Given the description of an element on the screen output the (x, y) to click on. 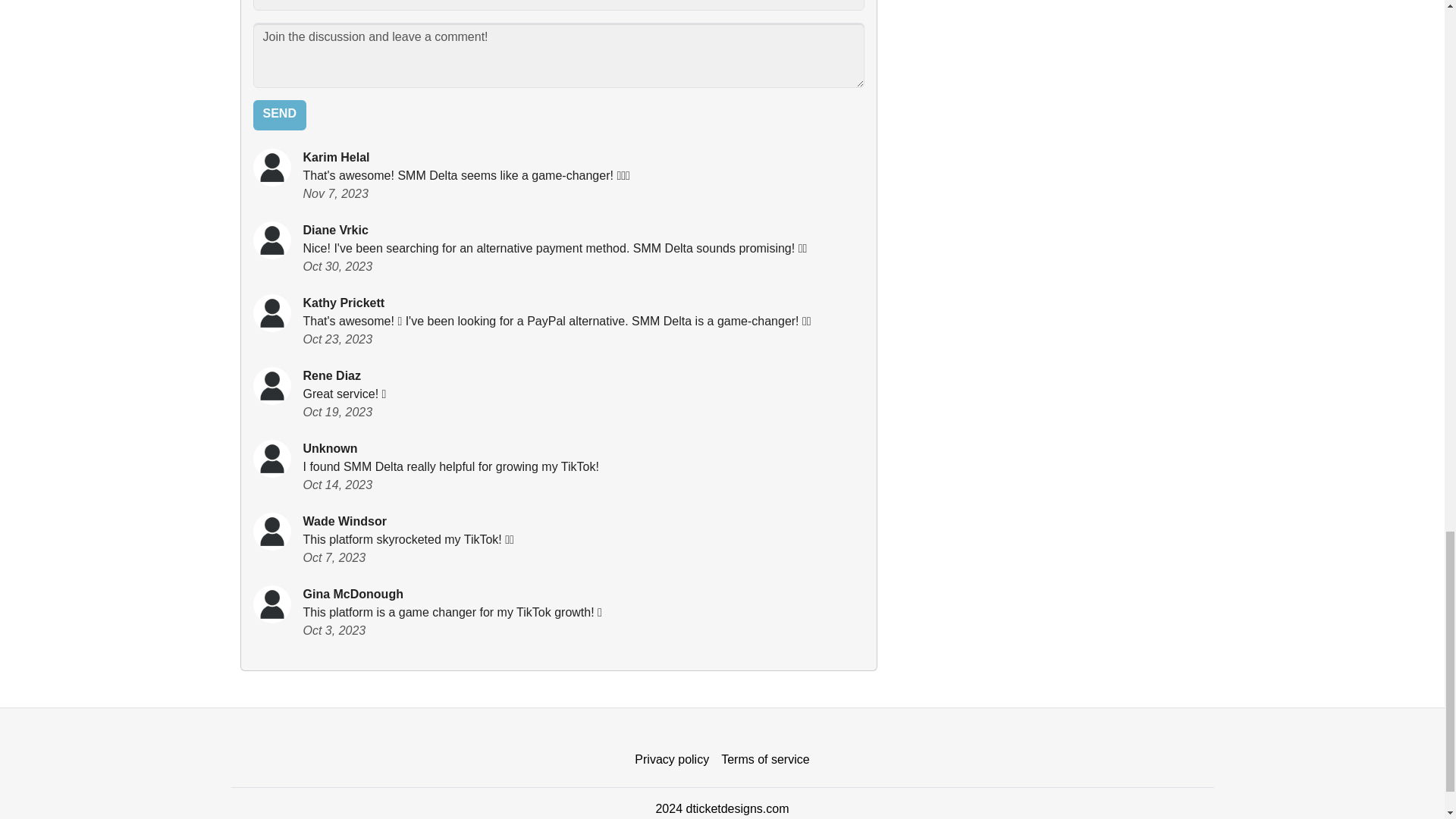
Terms of service (764, 759)
Send (279, 114)
Send (279, 114)
Privacy policy (671, 759)
